Given the description of an element on the screen output the (x, y) to click on. 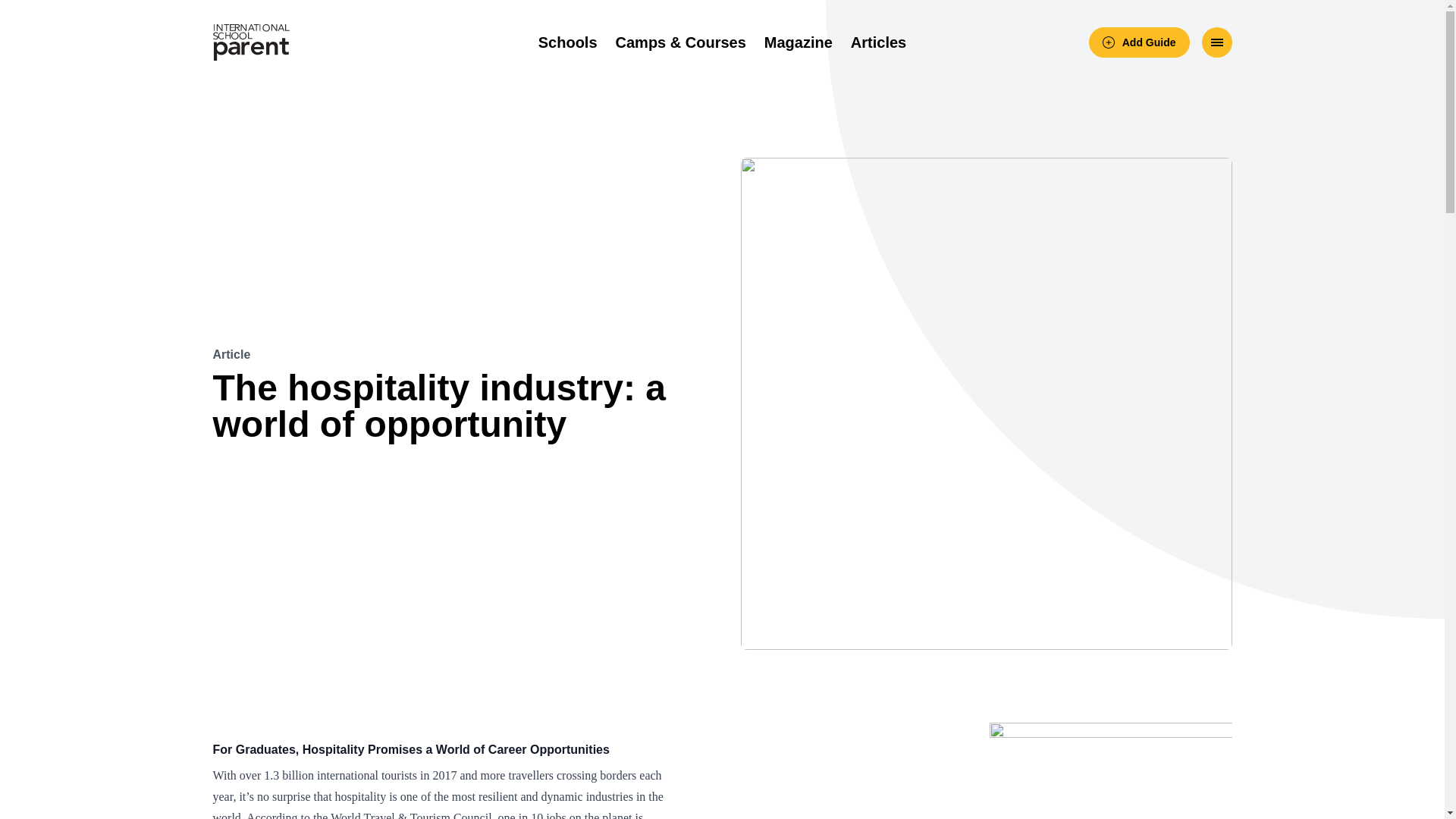
Add Guide (1139, 42)
Articles (877, 42)
Schools (567, 42)
Magazine (798, 42)
Open mobile navigation (1216, 42)
